Given the description of an element on the screen output the (x, y) to click on. 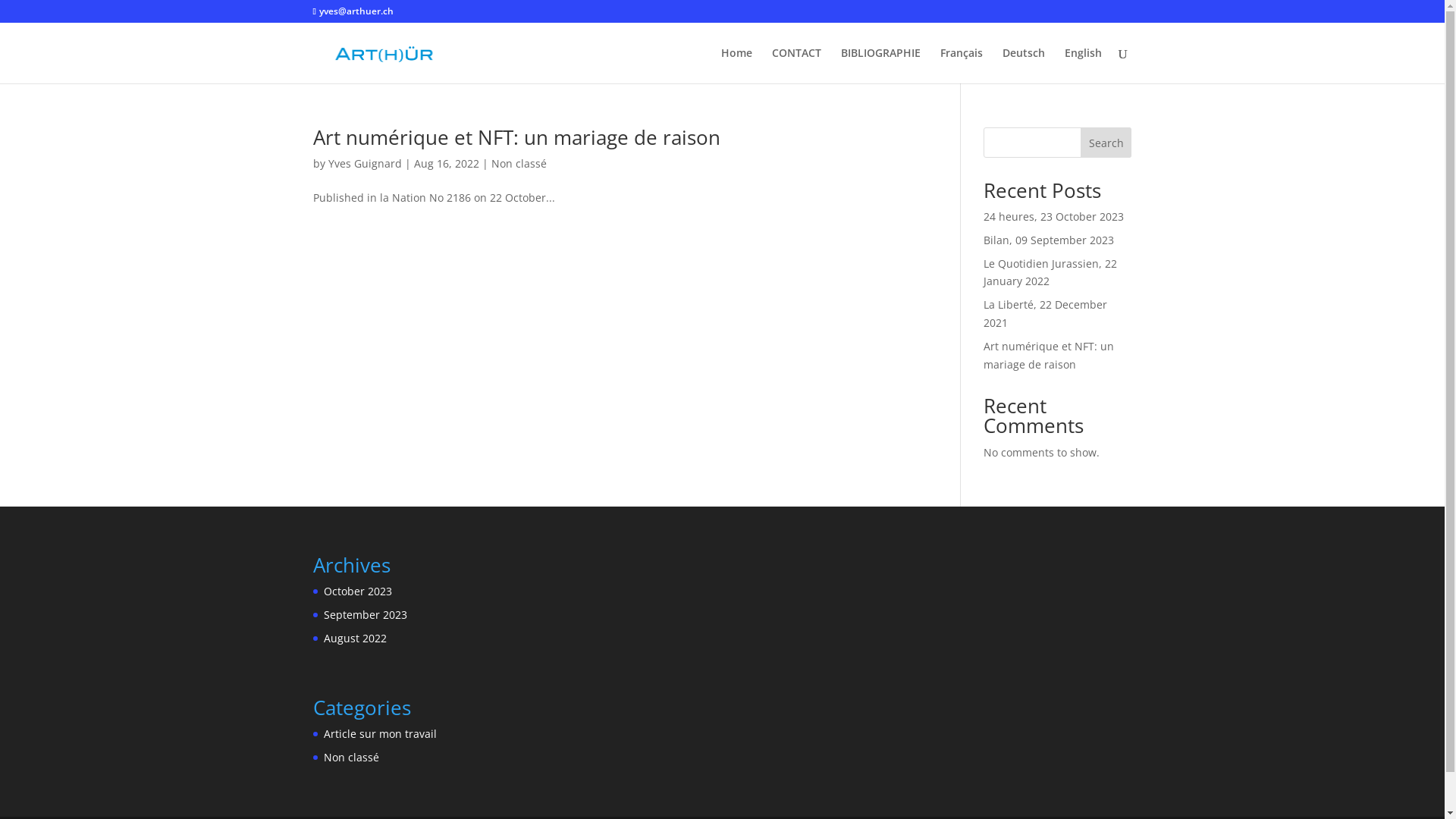
BIBLIOGRAPHIE Element type: text (879, 65)
CONTACT Element type: text (796, 65)
Search Element type: text (1106, 142)
Yves Guignard Element type: text (364, 163)
Le Quotidien Jurassien, 22 January 2022 Element type: text (1050, 272)
English Element type: text (1082, 65)
Home Element type: text (735, 65)
Bilan, 09 September 2023 Element type: text (1048, 239)
September 2023 Element type: text (364, 614)
Article sur mon travail Element type: text (379, 733)
August 2022 Element type: text (354, 637)
October 2023 Element type: text (357, 590)
24 heures, 23 October 2023 Element type: text (1053, 216)
Deutsch Element type: text (1023, 65)
yves@arthuer.ch Element type: text (352, 10)
